Given the description of an element on the screen output the (x, y) to click on. 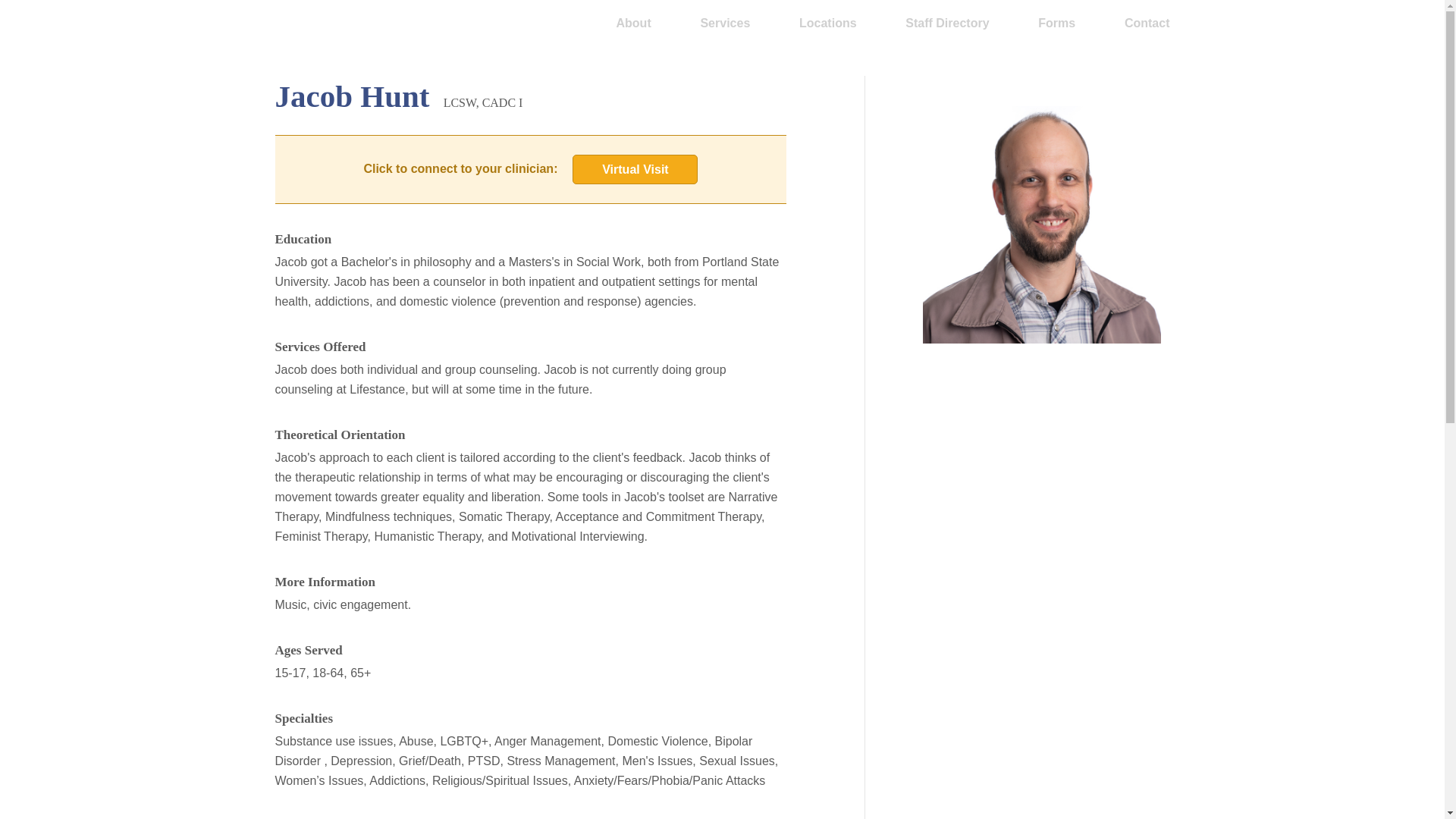
Services (724, 22)
Contact (1147, 22)
Locations (828, 22)
Staff Directory (946, 22)
Virtual Visit (634, 169)
